Given the description of an element on the screen output the (x, y) to click on. 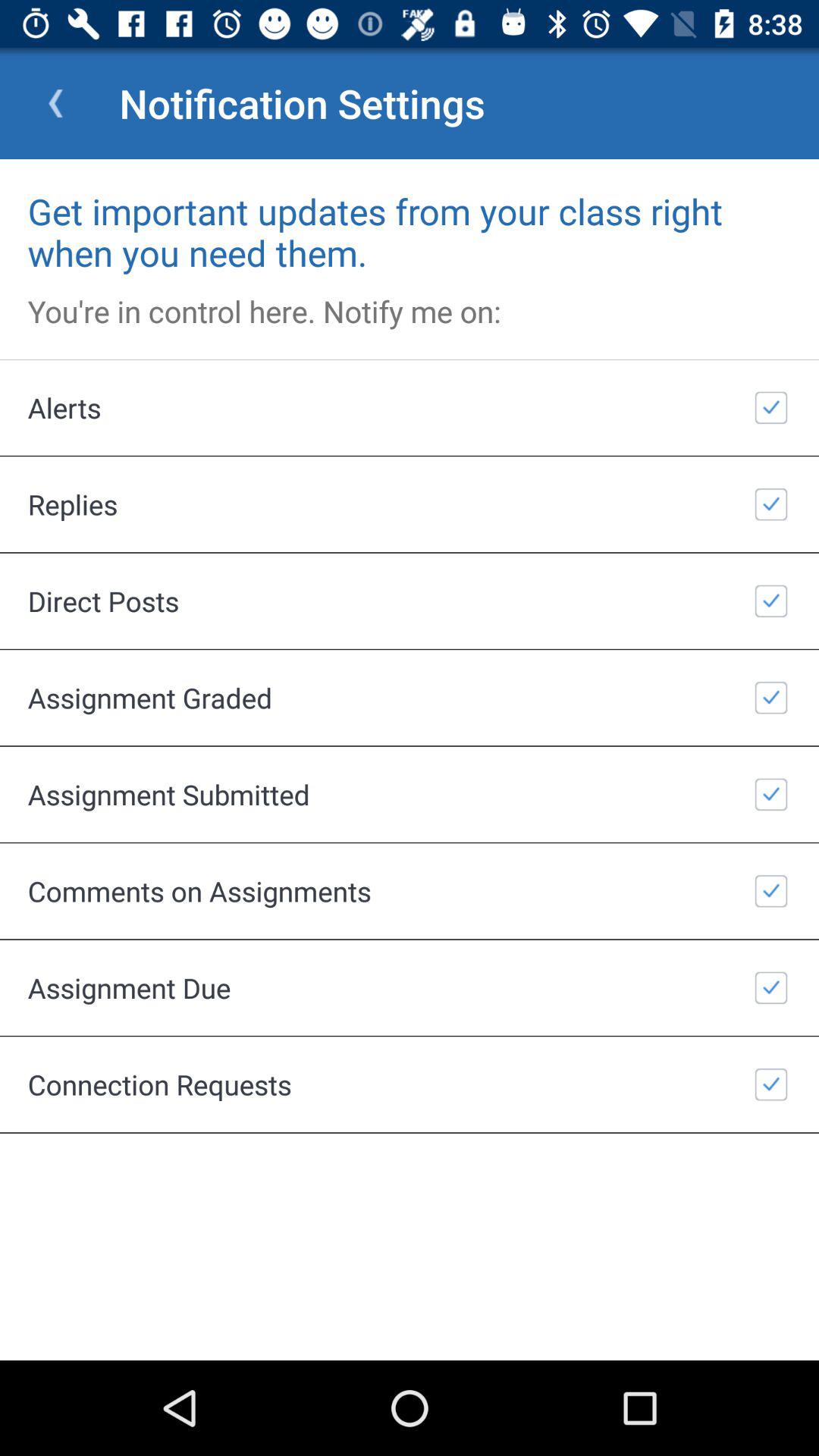
select item above assignment due (409, 891)
